Given the description of an element on the screen output the (x, y) to click on. 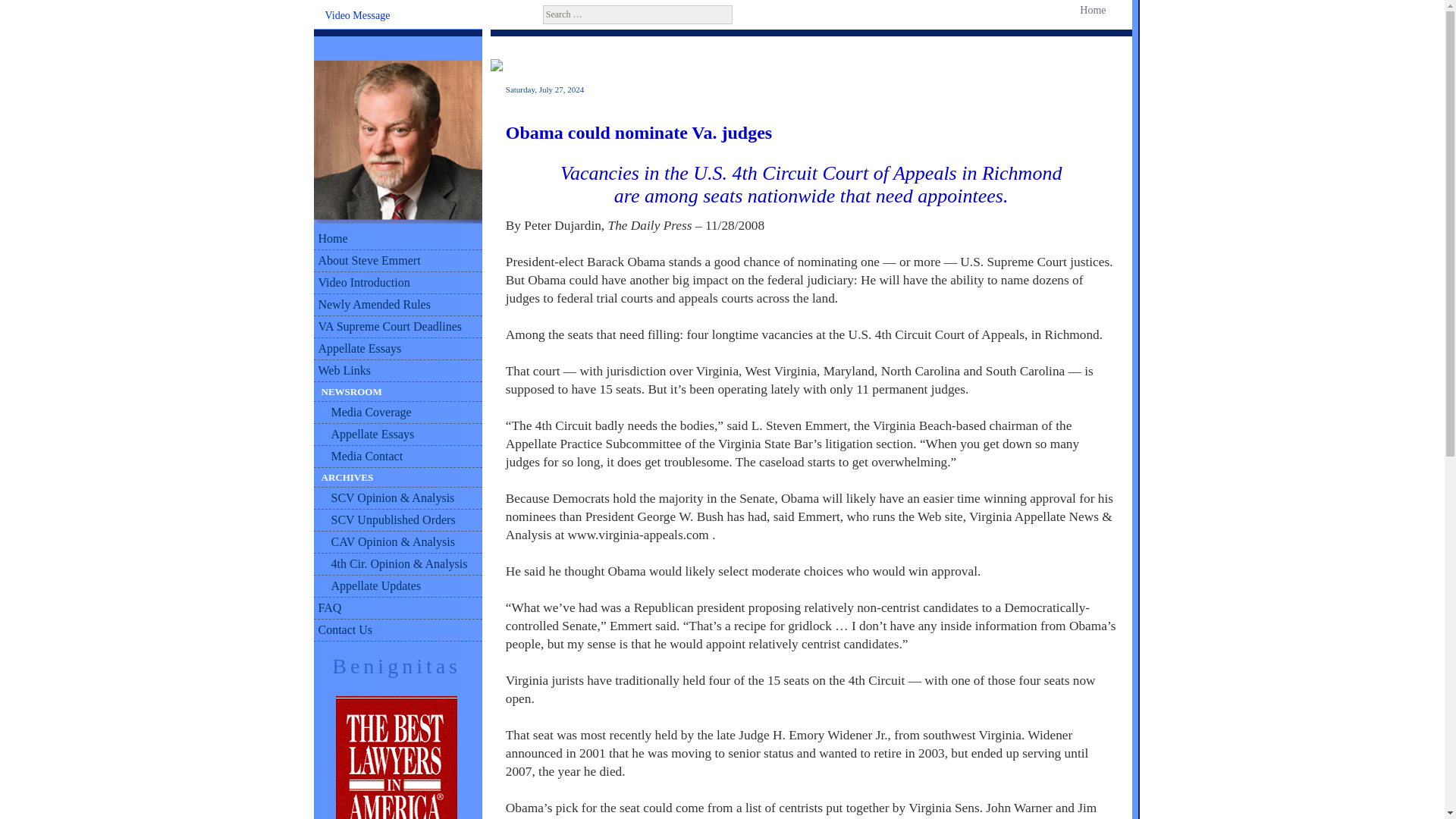
About Steve Emmert (397, 260)
Home (1089, 9)
Media Contact (397, 456)
SCV Unpublished Orders (397, 520)
Contact Us (397, 630)
Web Links (397, 371)
Appellate Essays (397, 349)
Video Message (357, 15)
Appellate Essays (397, 434)
Newly Amended Rules (397, 305)
Search (34, 13)
Media Coverage (397, 413)
VA Supreme Court Deadlines (397, 327)
Appellate Updates (397, 586)
Video Introduction (397, 282)
